Given the description of an element on the screen output the (x, y) to click on. 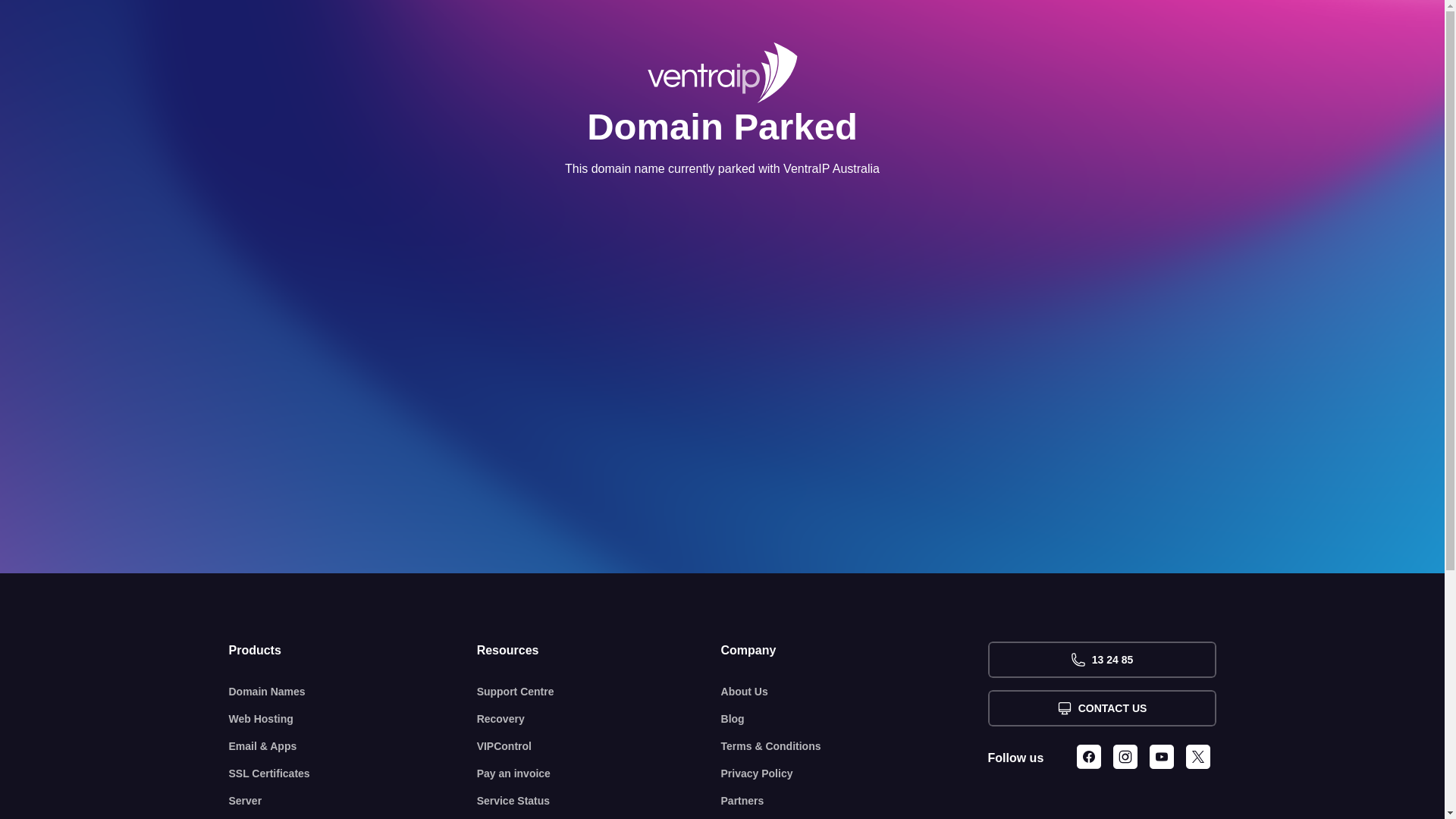
Recovery Element type: text (598, 718)
Partners Element type: text (854, 800)
Domain Names Element type: text (352, 691)
Service Status Element type: text (598, 800)
Pay an invoice Element type: text (598, 773)
Web Hosting Element type: text (352, 718)
Blog Element type: text (854, 718)
SSL Certificates Element type: text (352, 773)
Terms & Conditions Element type: text (854, 745)
13 24 85 Element type: text (1101, 659)
Support Centre Element type: text (598, 691)
VIPControl Element type: text (598, 745)
CONTACT US Element type: text (1101, 708)
About Us Element type: text (854, 691)
Server Element type: text (352, 800)
Privacy Policy Element type: text (854, 773)
Email & Apps Element type: text (352, 745)
